Given the description of an element on the screen output the (x, y) to click on. 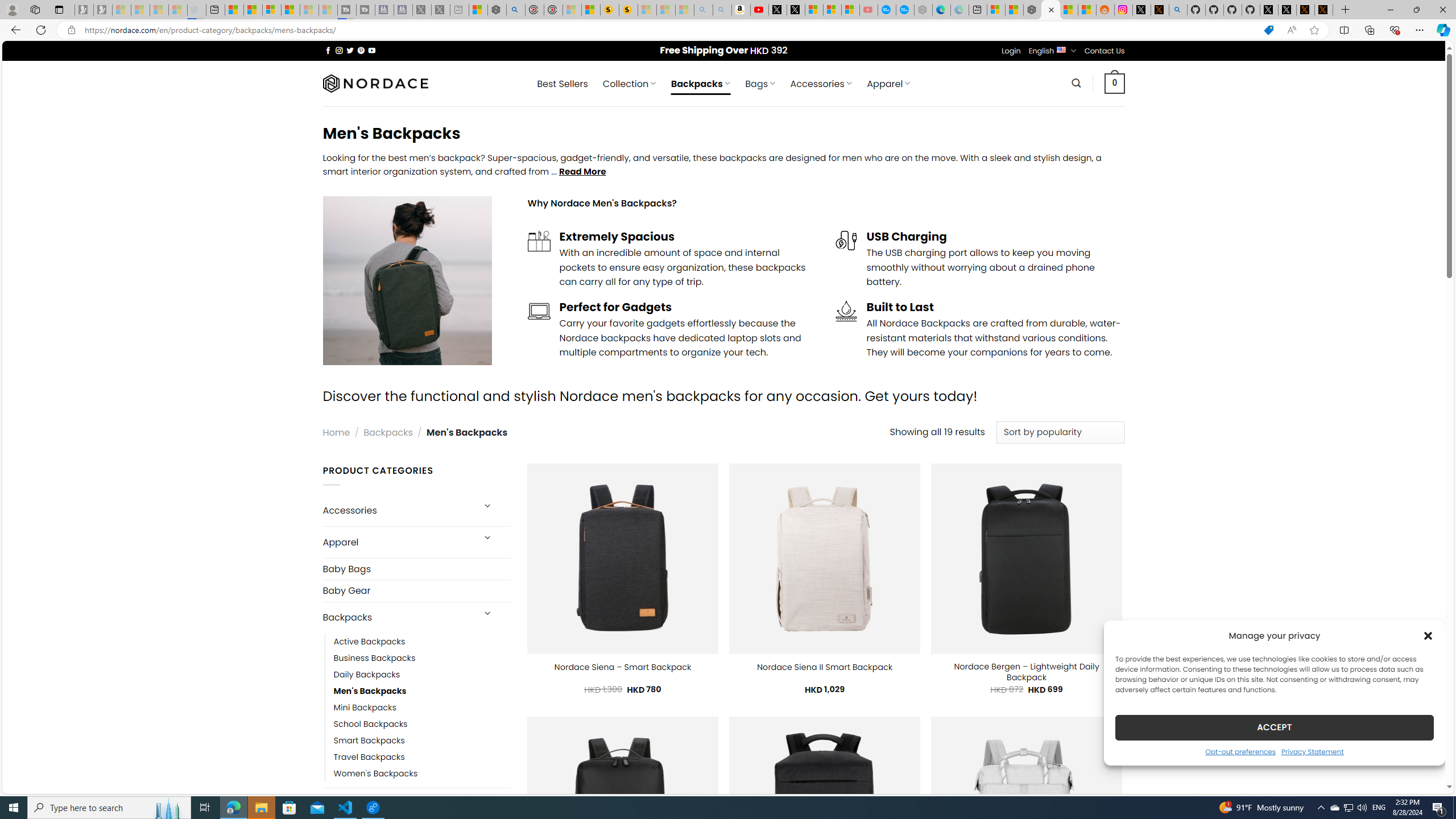
Travel Backpacks (368, 756)
Opinion: Op-Ed and Commentary - USA TODAY (887, 9)
X (795, 9)
Nordace - Nordace has arrived Hong Kong - Sleeping (923, 9)
Amazon Echo Dot PNG - Search Images - Sleeping (721, 9)
Men's Backpacks (369, 690)
Microsoft account | Microsoft Account Privacy Settings (996, 9)
Home (335, 431)
help.x.com | 524: A timeout occurred (1159, 9)
